Given the description of an element on the screen output the (x, y) to click on. 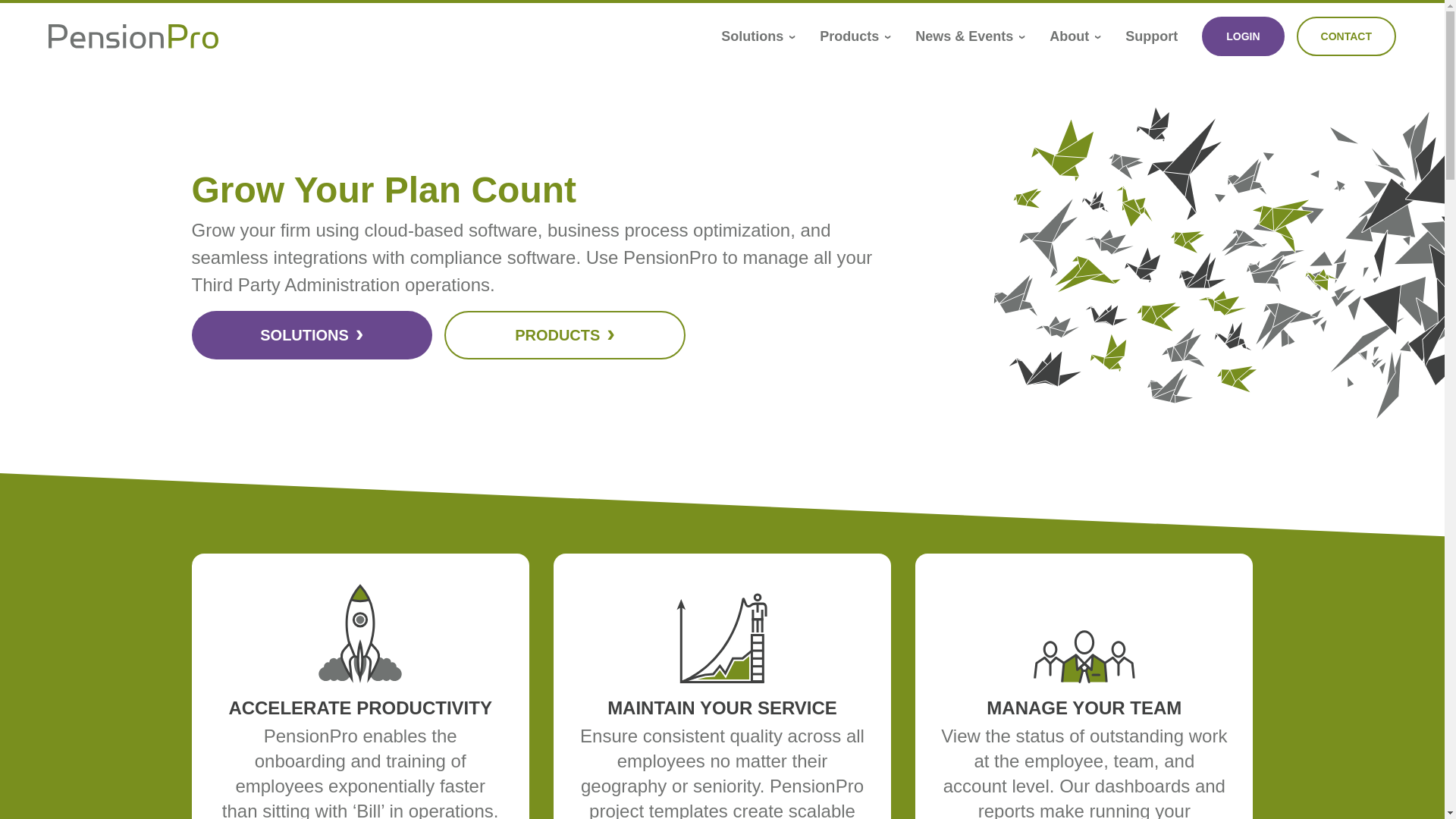
About (1074, 36)
CONTACT (1346, 36)
Solutions (758, 36)
Support (1151, 36)
Products (855, 36)
LOGIN (1243, 36)
